Given the description of an element on the screen output the (x, y) to click on. 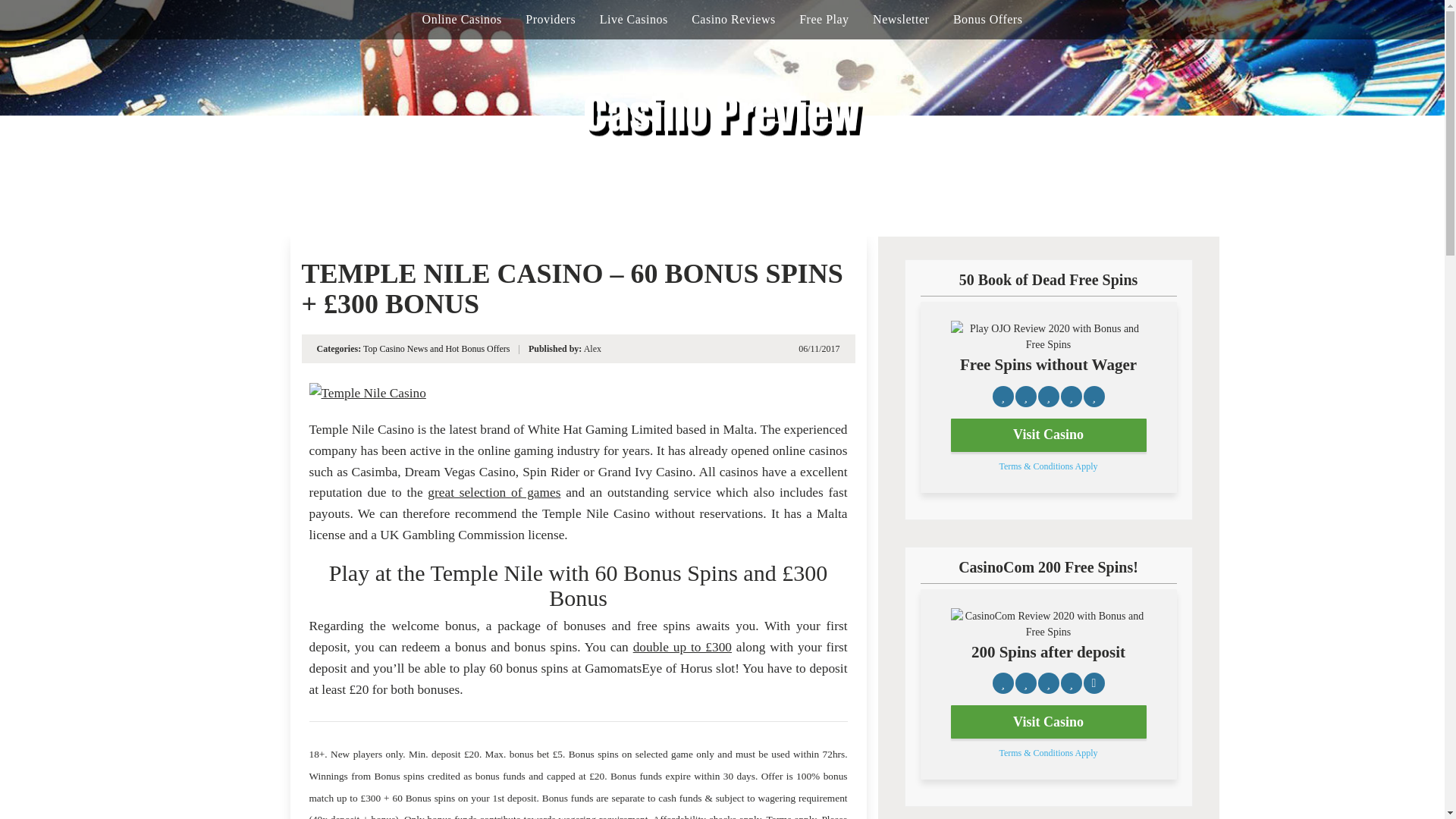
Casino Reviews (733, 19)
Visit Casino (1048, 721)
Providers (550, 19)
Newsletter (900, 19)
Bonus Offers (987, 19)
Online Casinos (462, 19)
Visit Casino (1048, 435)
